Given the description of an element on the screen output the (x, y) to click on. 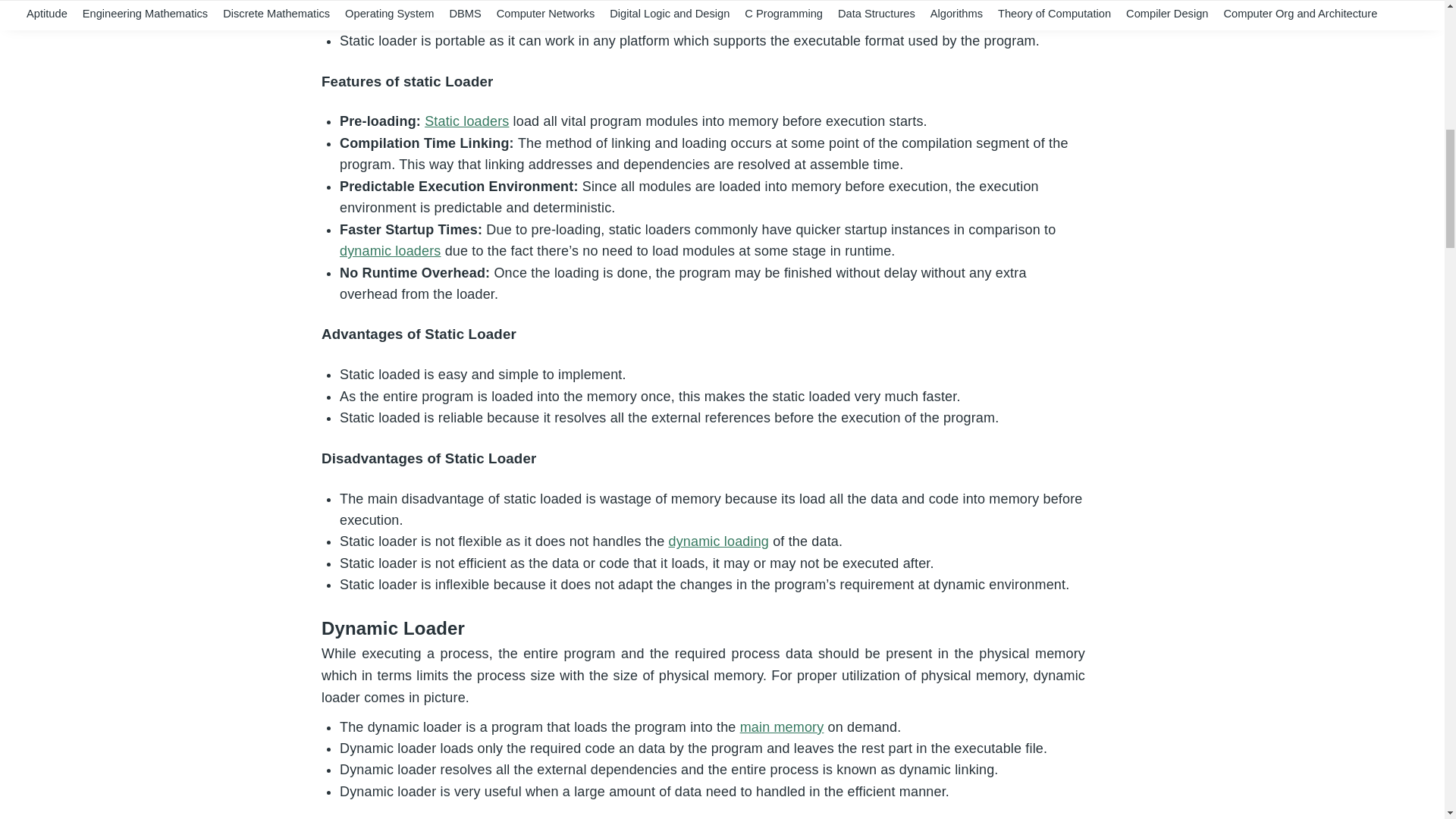
3rd party ad content (1251, 253)
